Given the description of an element on the screen output the (x, y) to click on. 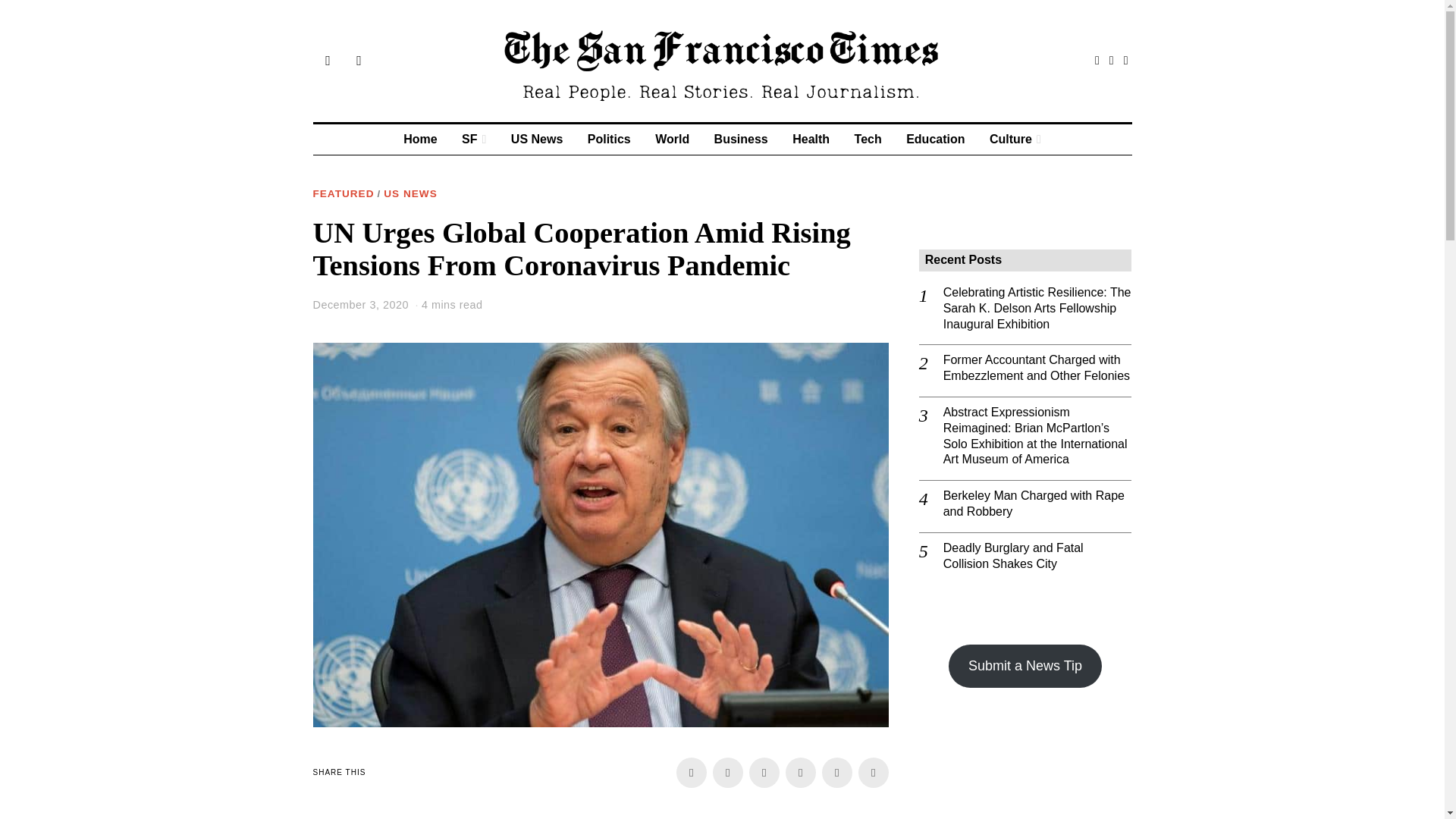
US News (536, 139)
Health (810, 139)
Tech (868, 139)
Culture (1014, 139)
US NEWS (410, 194)
World (672, 139)
FEATURED (343, 194)
Facebook (1096, 60)
Politics (609, 139)
Education (935, 139)
Twitter (1111, 60)
Home (419, 139)
Instagram (1125, 60)
Business (740, 139)
SF (473, 139)
